Given the description of an element on the screen output the (x, y) to click on. 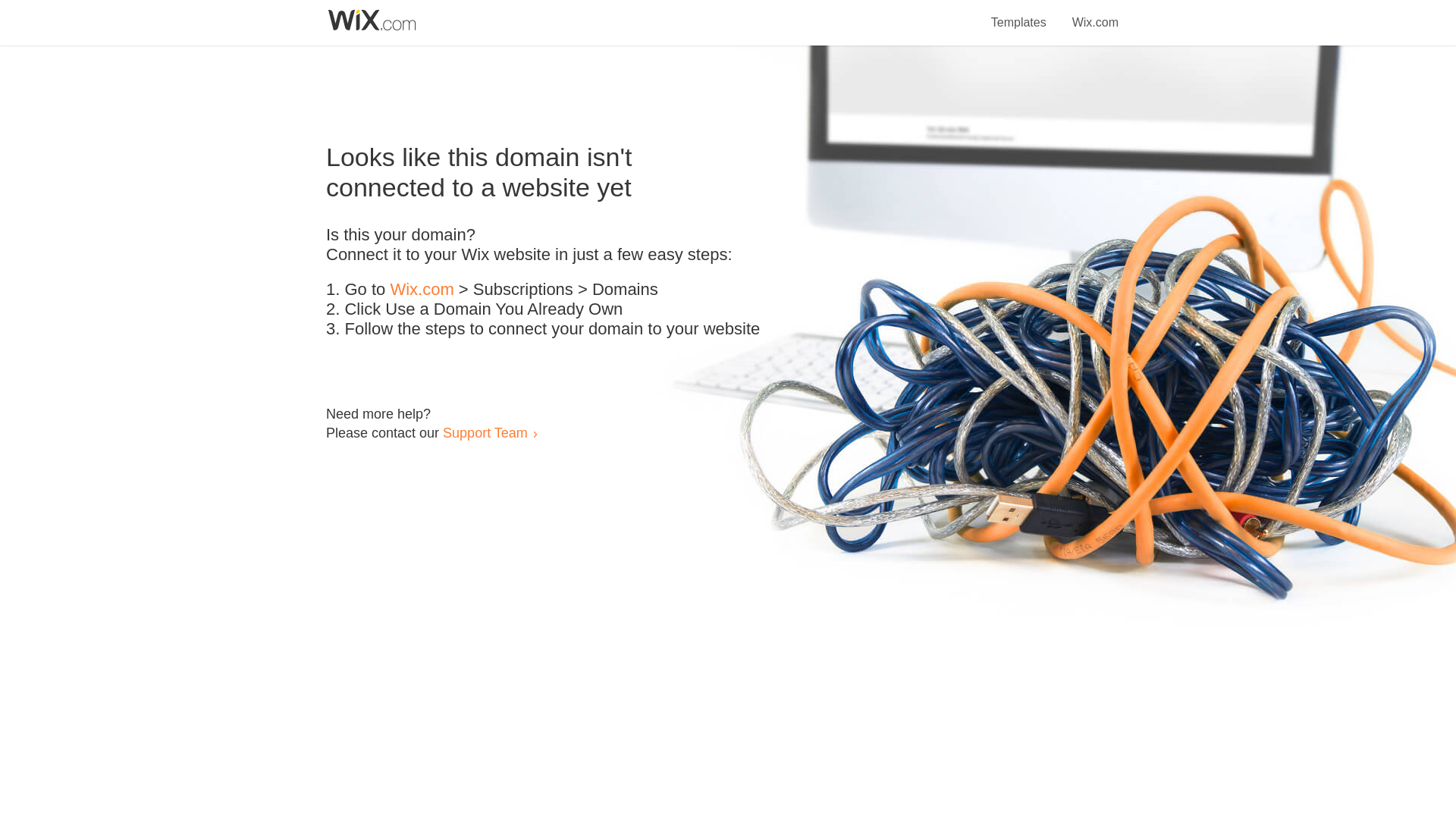
Wix.com (421, 289)
Wix.com (1095, 14)
Templates (1018, 14)
Support Team (484, 432)
